Given the description of an element on the screen output the (x, y) to click on. 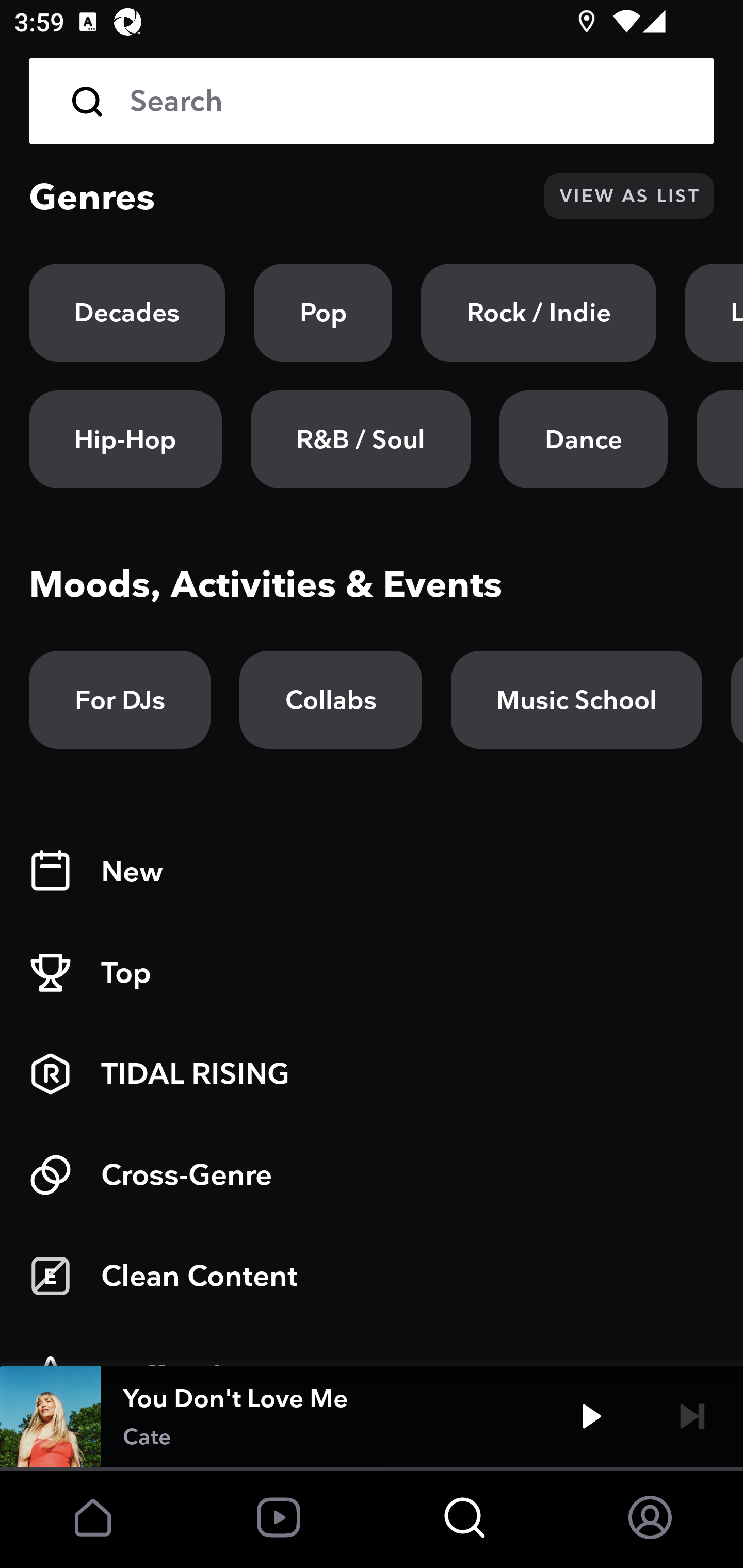
Search (371, 101)
Search (407, 100)
VIEW AS LIST (629, 195)
Decades (126, 312)
Pop (323, 312)
Rock / Indie (538, 312)
Hip-Hop (125, 439)
R&B / Soul (360, 439)
Dance (583, 439)
For DJs (119, 699)
Collabs (330, 699)
Music School (576, 699)
New (371, 871)
Top (371, 972)
TIDAL RISING (371, 1073)
Cross-Genre (371, 1175)
Clean Content (371, 1276)
You Don't Love Me Cate Play (371, 1416)
Play (590, 1416)
